Given the description of an element on the screen output the (x, y) to click on. 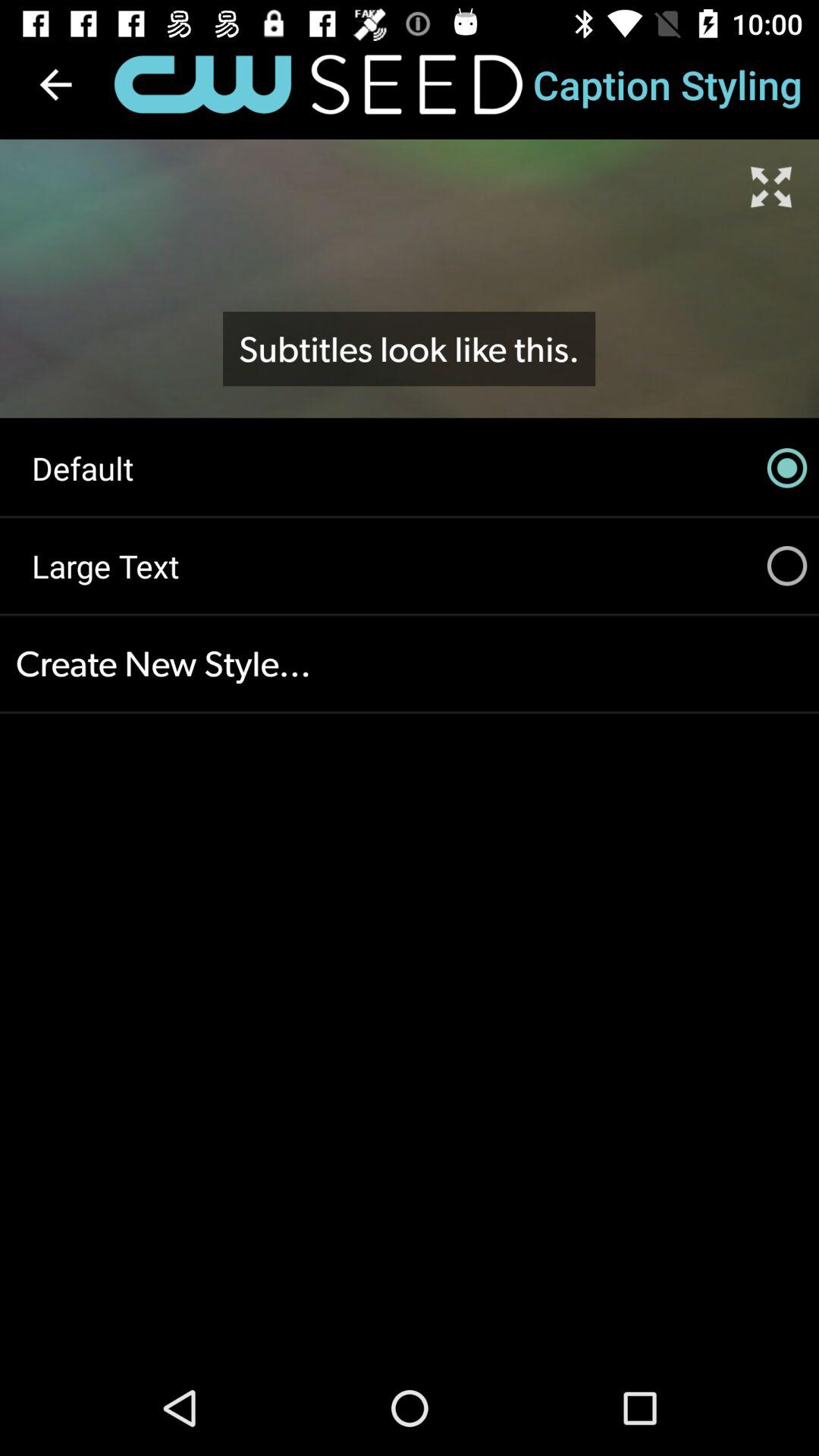
click create new style... (409, 663)
